Given the description of an element on the screen output the (x, y) to click on. 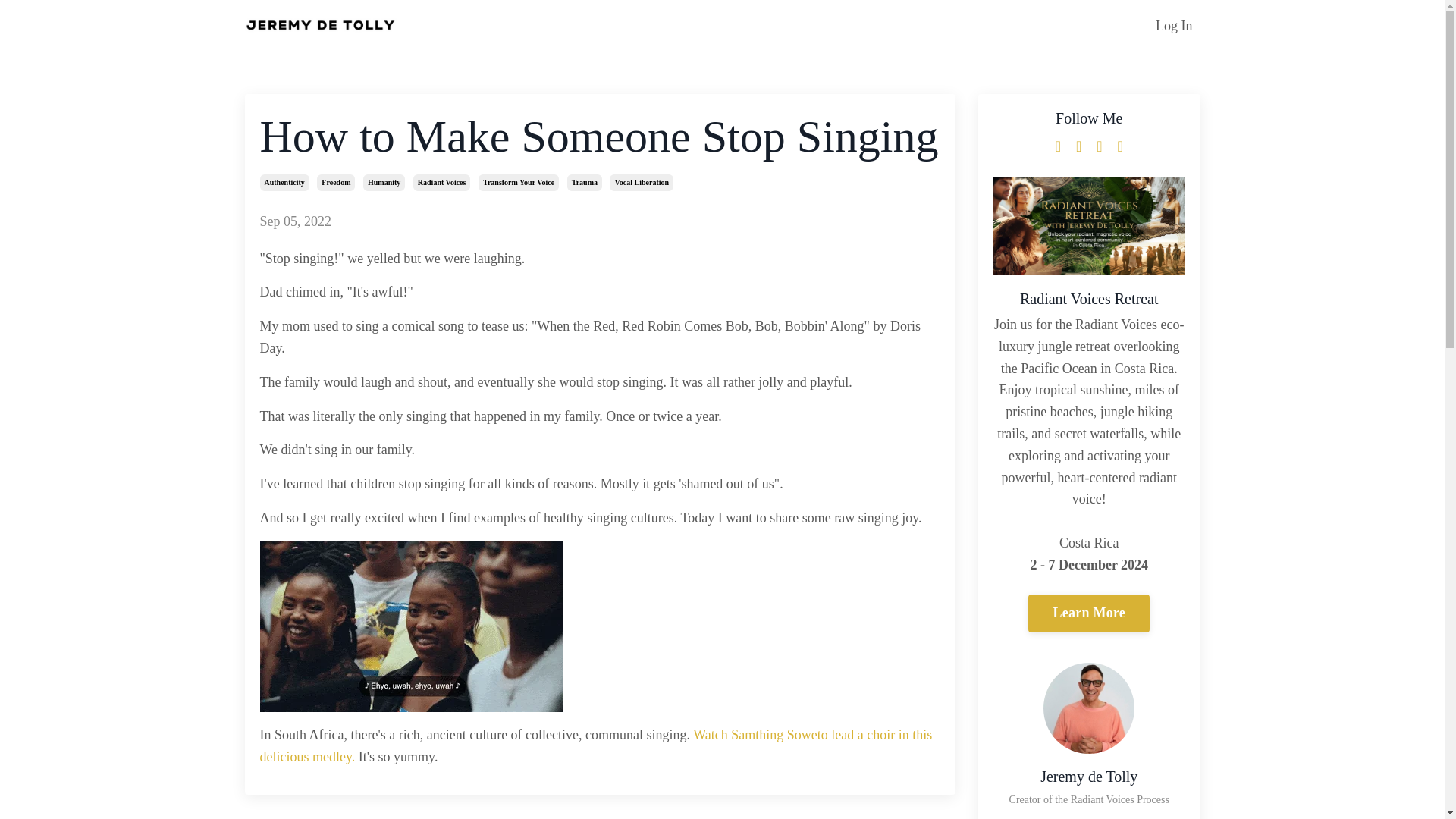
Humanity (383, 182)
Transform Your Voice (519, 182)
Log In (1174, 25)
Learn More (1088, 613)
Radiant Voices (441, 182)
Trauma (584, 182)
Vocal Liberation (641, 182)
Authenticity (283, 182)
Freedom (336, 182)
Watch Samthing Soweto lead a choir in this delicious medley. (595, 745)
